Given the description of an element on the screen output the (x, y) to click on. 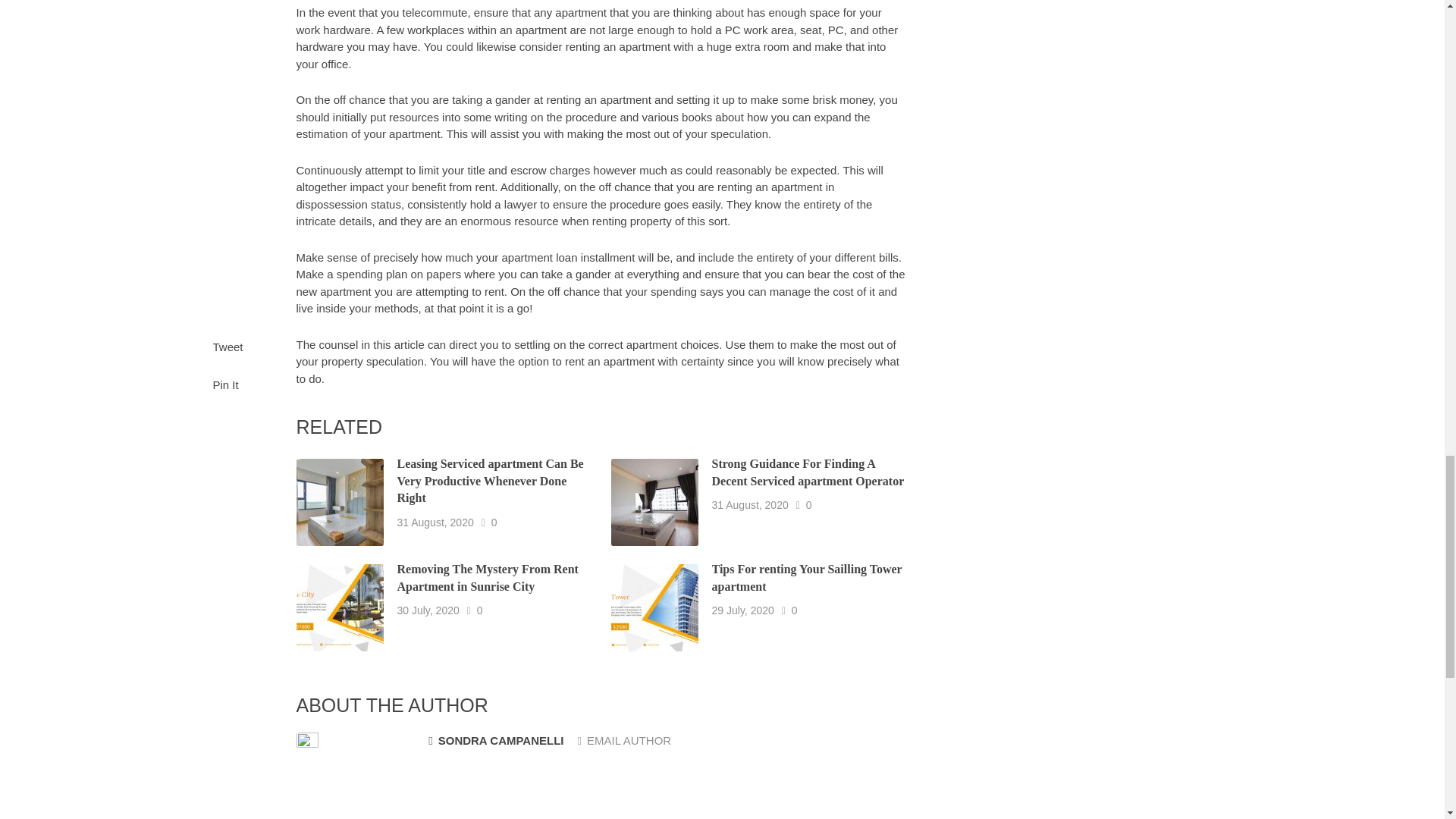
Removing The Mystery From Rent Apartment in Sunrise City (487, 577)
EMAIL AUTHOR (624, 739)
Tips For renting Your Sailling Tower apartment (806, 577)
0 (794, 610)
Tips For renting Your Sailling Tower apartment (806, 577)
0 (809, 504)
SONDRA CAMPANELLI (495, 741)
0 (480, 610)
Removing The Mystery From Rent Apartment in Sunrise City (487, 577)
